Given the description of an element on the screen output the (x, y) to click on. 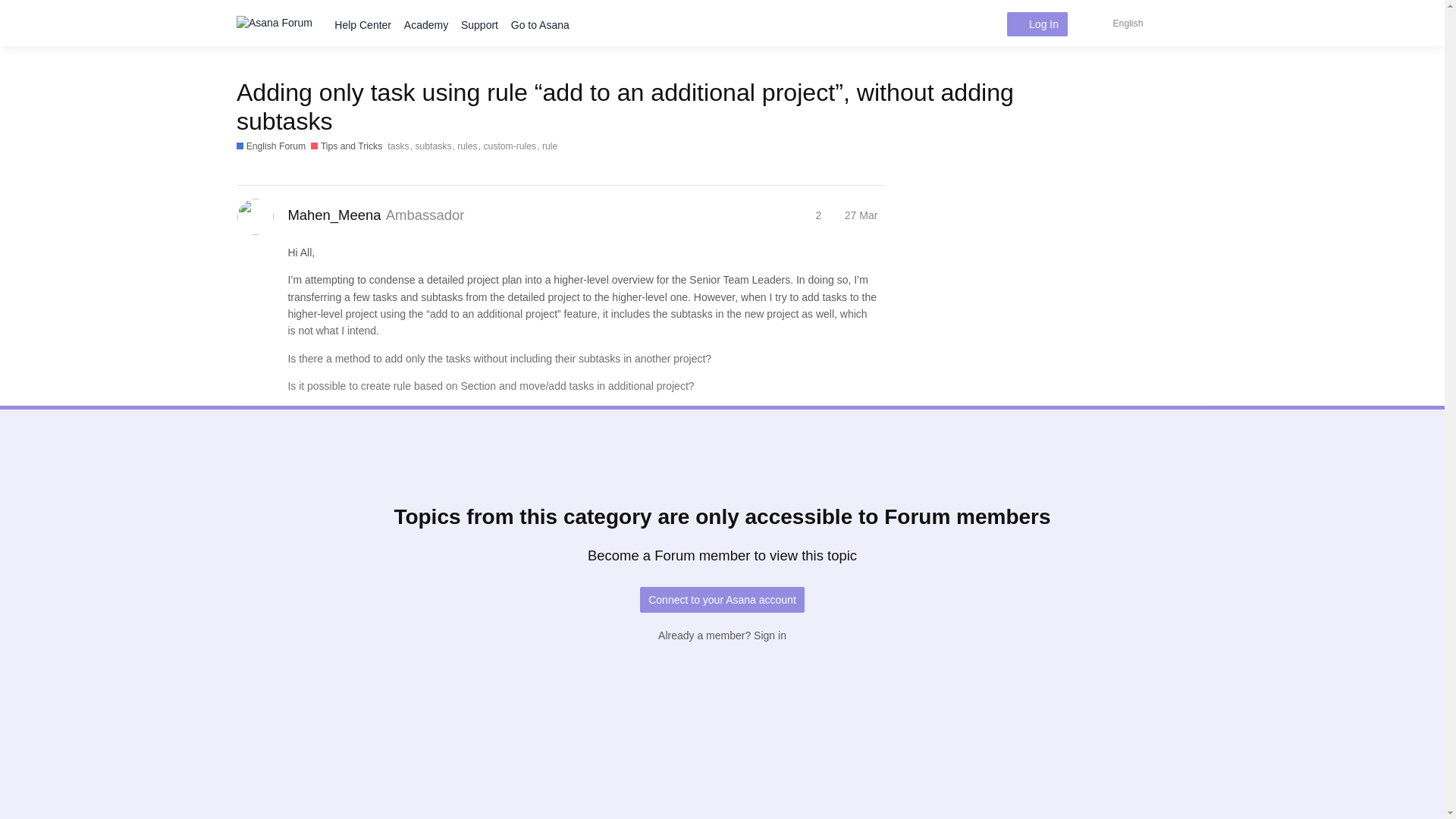
Asana Academy (425, 25)
Go to Asana (539, 25)
Search (1192, 22)
Ask for help and share Asana tips! (346, 146)
Ambassador (268, 227)
Connect to your Asana account (722, 599)
Asana Support (479, 25)
rule (549, 146)
Academy (425, 25)
English Forum (270, 146)
